Given the description of an element on the screen output the (x, y) to click on. 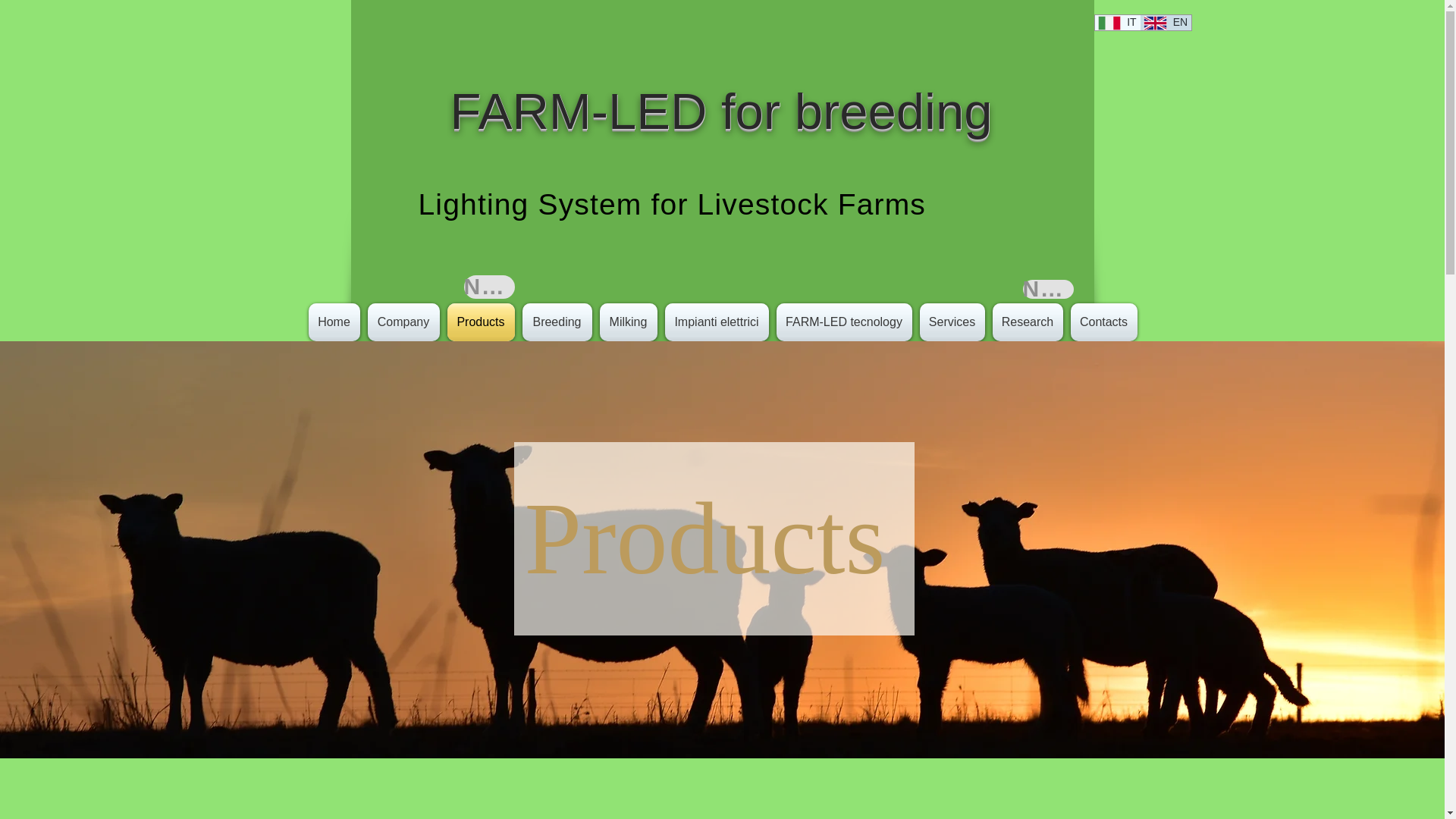
Home (334, 322)
FARM-LED tecnology (843, 322)
Breeding (556, 322)
Contacts (1101, 322)
Products (480, 322)
IT (1117, 22)
Research (1027, 322)
Impianti elettrici (717, 322)
Services (951, 322)
Company (404, 322)
